Given the description of an element on the screen output the (x, y) to click on. 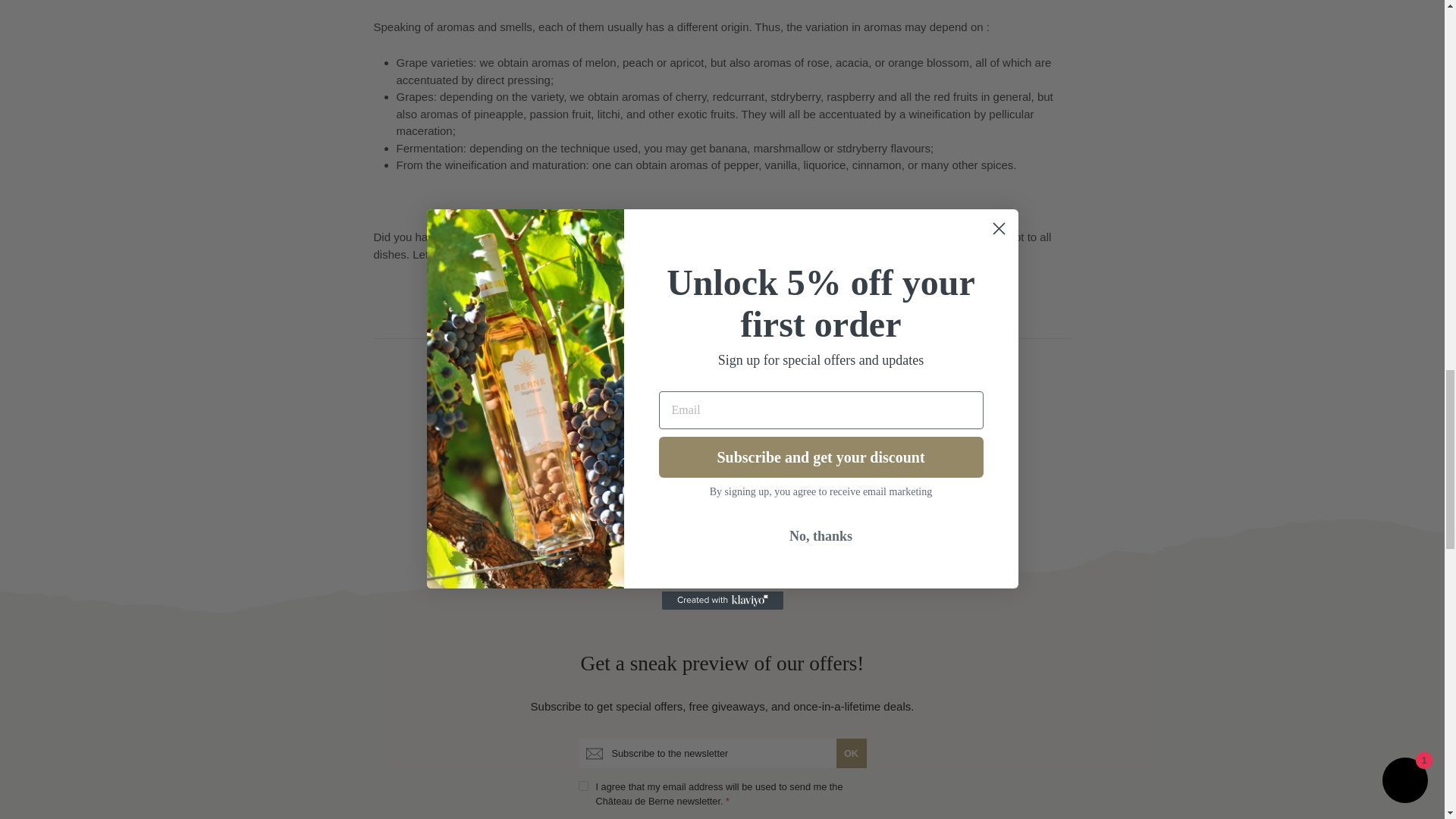
Share on Facebook (654, 294)
Pin on Pinterest (791, 294)
on (583, 786)
Tweet on Twitter (723, 294)
